Given the description of an element on the screen output the (x, y) to click on. 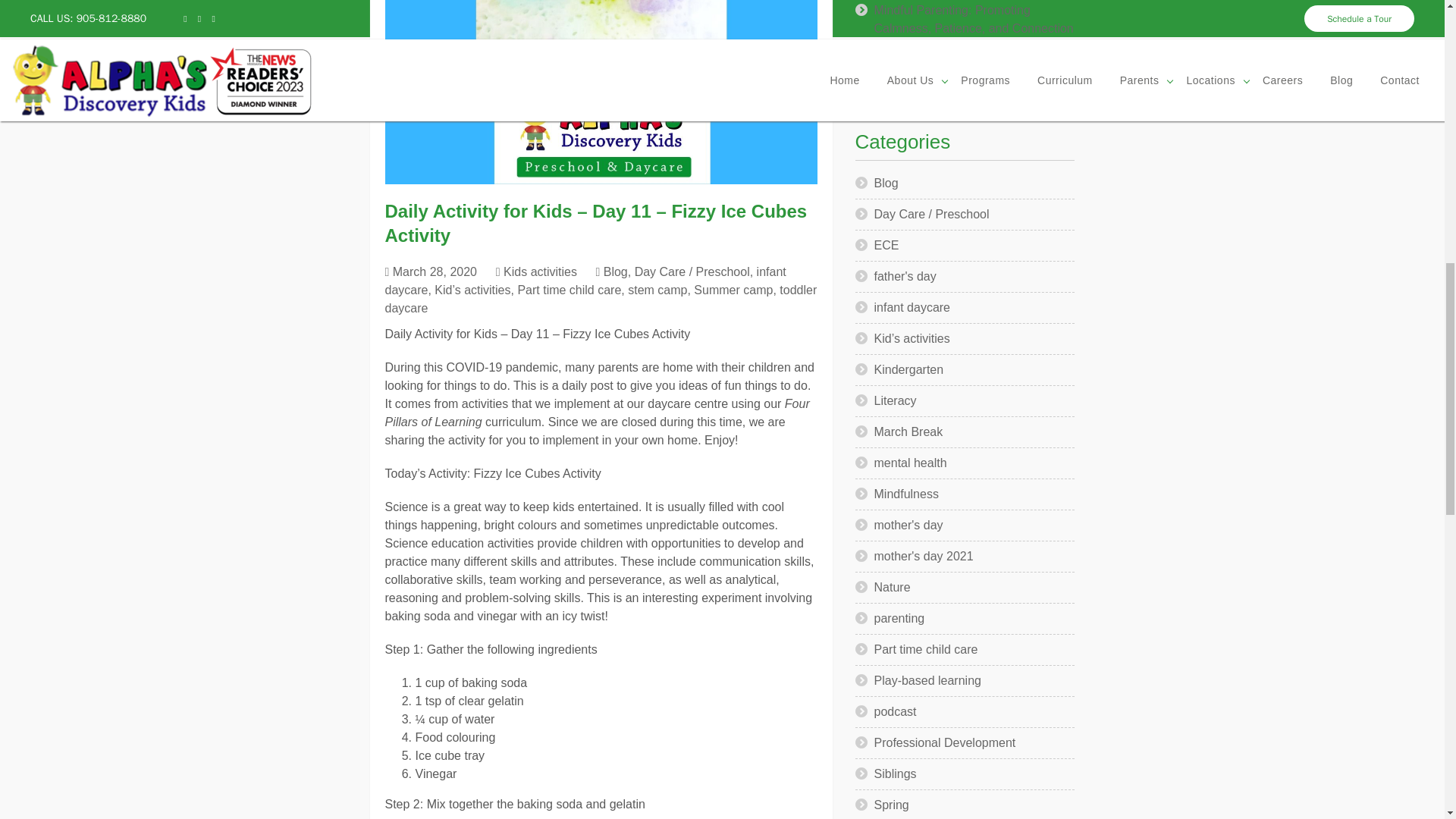
toddler daycare (600, 298)
Part time child care (568, 289)
Kids activities (539, 271)
Summer camp (733, 289)
infant daycare (585, 280)
stem camp (657, 289)
Blog (615, 271)
